Given the description of an element on the screen output the (x, y) to click on. 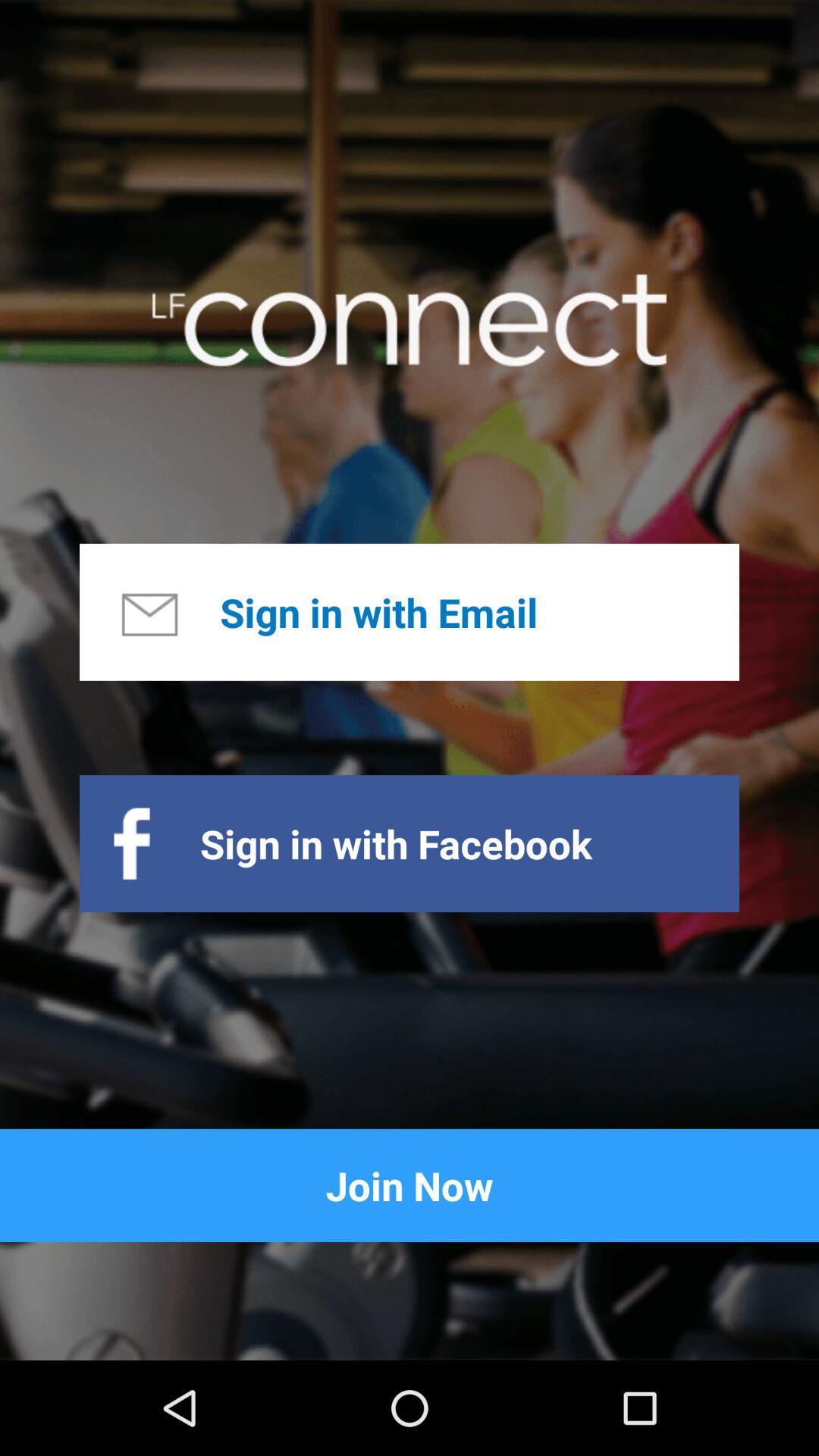
click join now item (409, 1185)
